Given the description of an element on the screen output the (x, y) to click on. 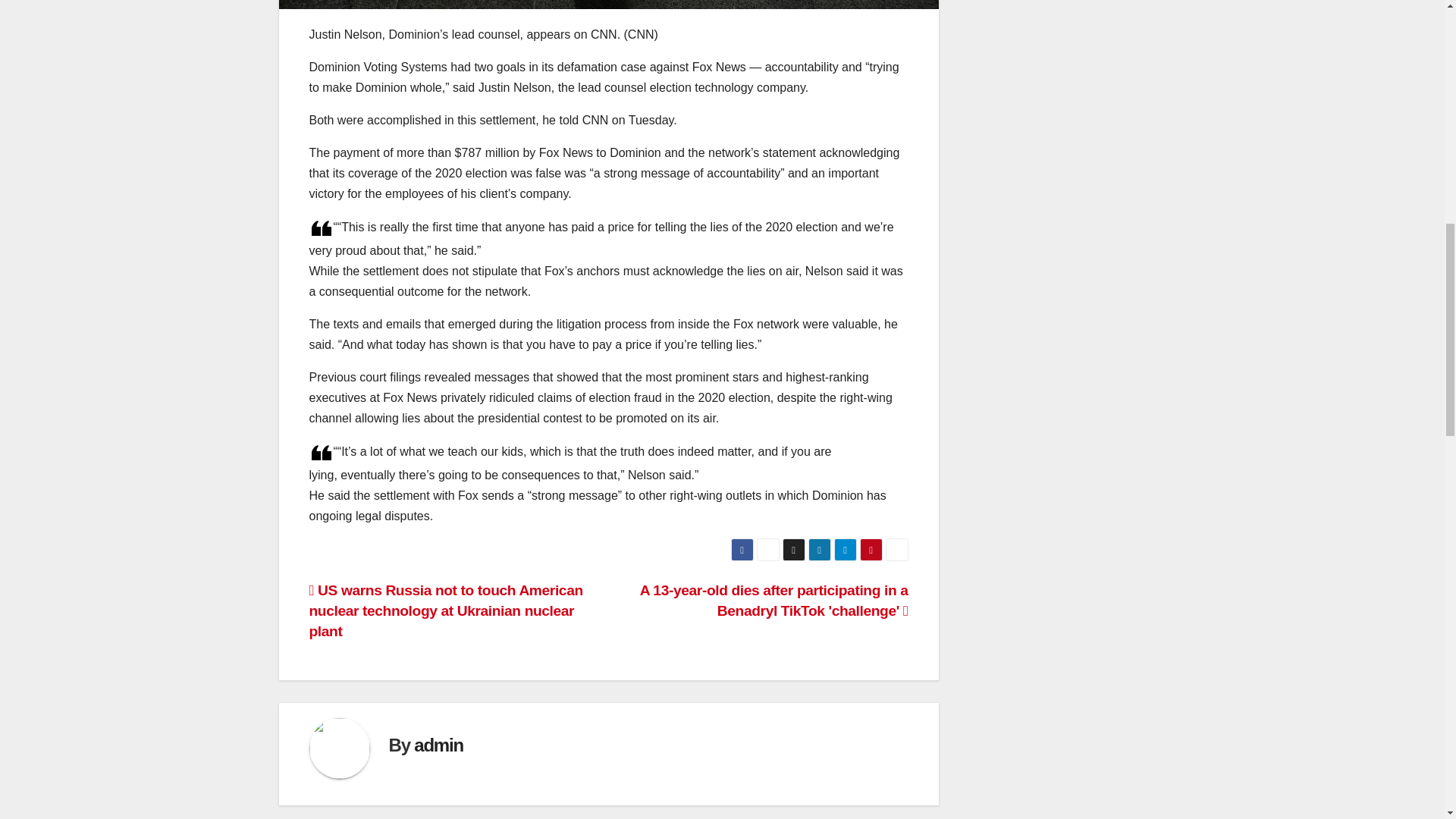
admin (438, 744)
